Given the description of an element on the screen output the (x, y) to click on. 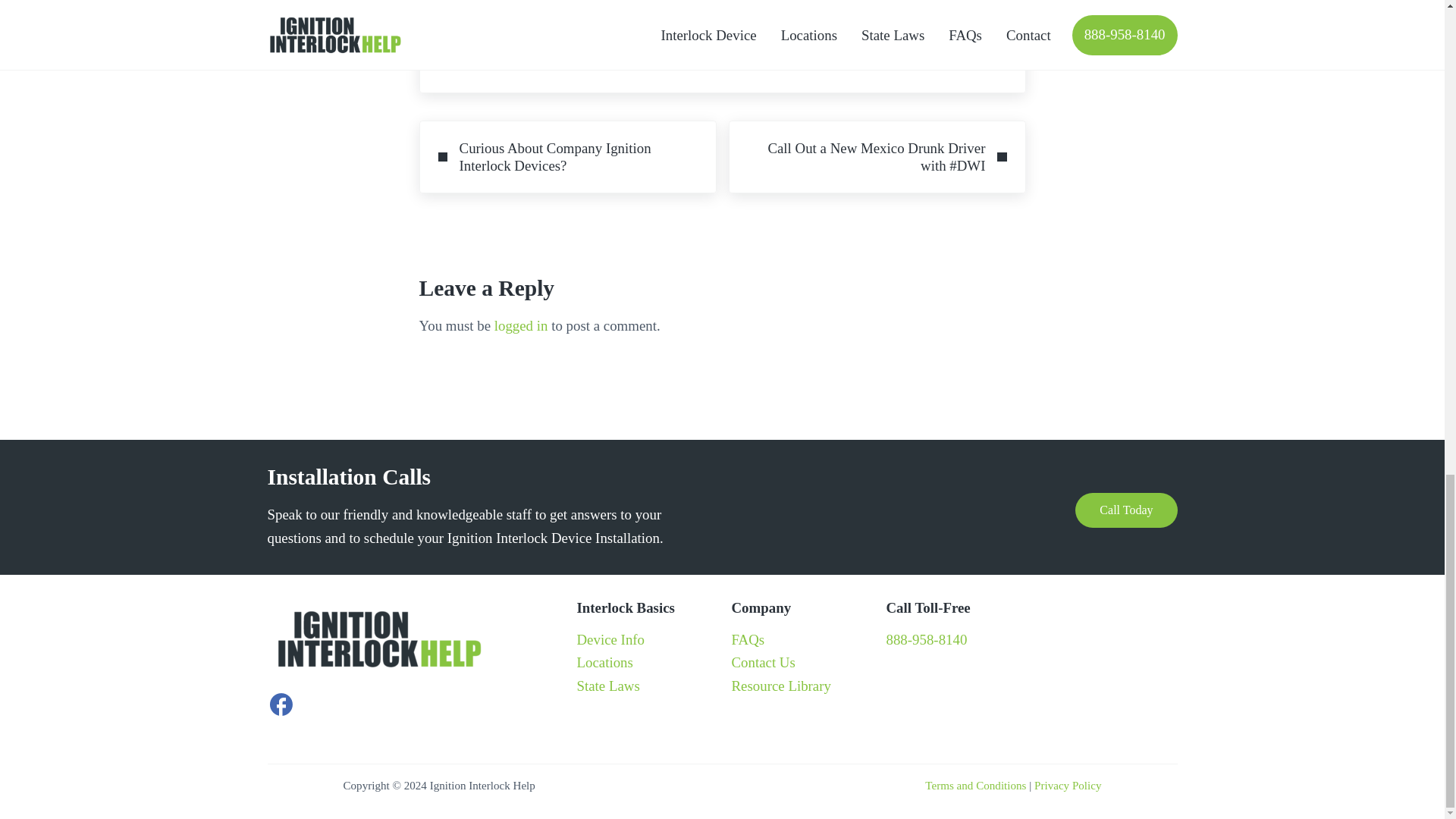
Terms and Conditions (975, 785)
Contact Us (762, 662)
Locations (603, 662)
Privacy Policy (1066, 785)
Device Info (610, 639)
FAQs (747, 639)
888-958-8140 (925, 639)
Call Today (1125, 510)
State Laws (607, 685)
